Given the description of an element on the screen output the (x, y) to click on. 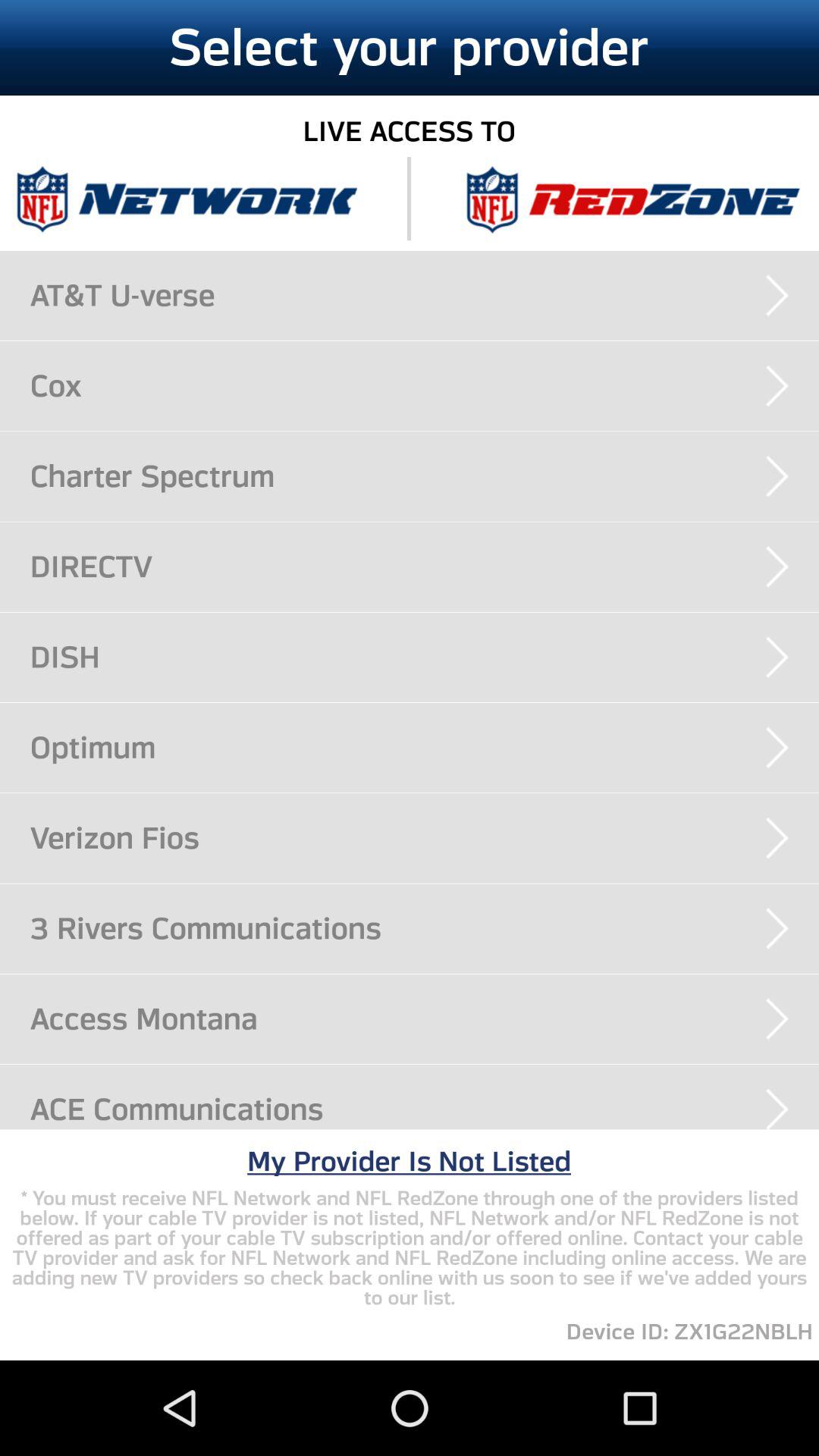
swipe until charter spectrum app (424, 476)
